Given the description of an element on the screen output the (x, y) to click on. 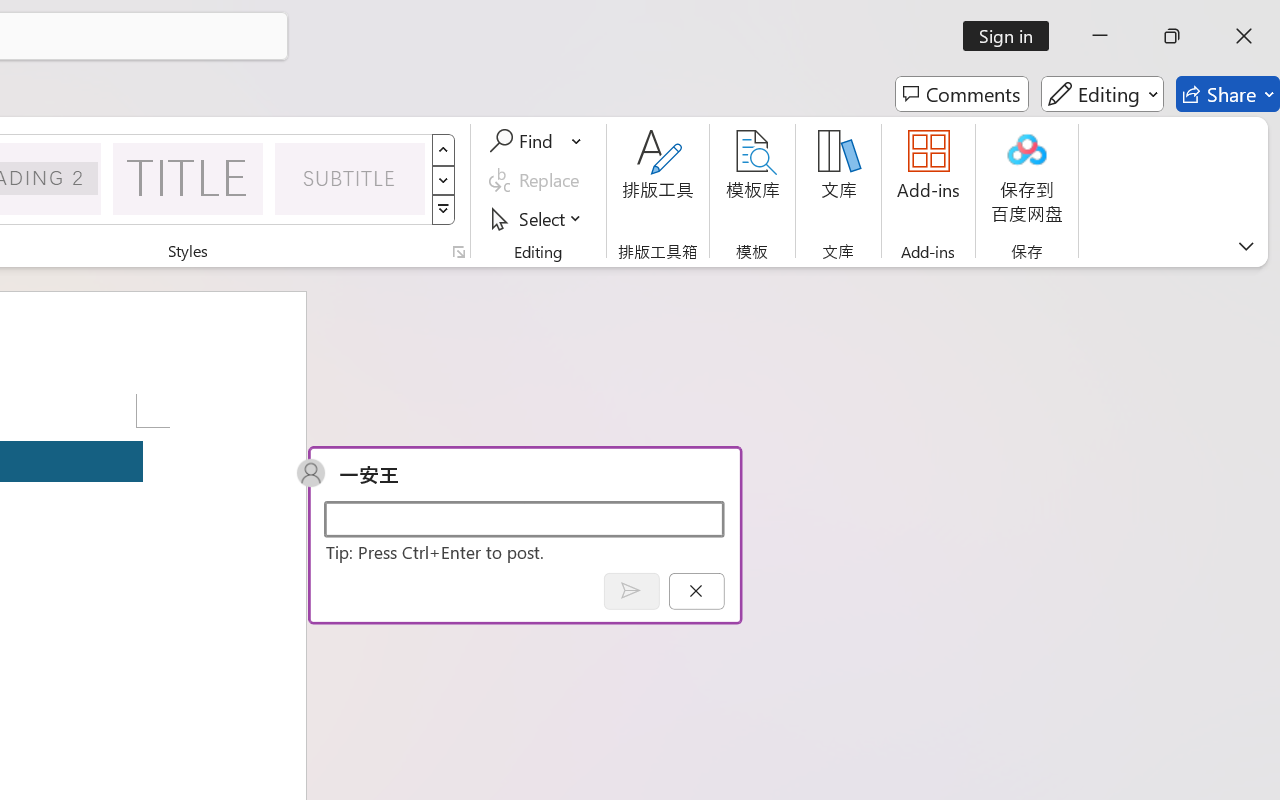
Editing (1101, 94)
